Given the description of an element on the screen output the (x, y) to click on. 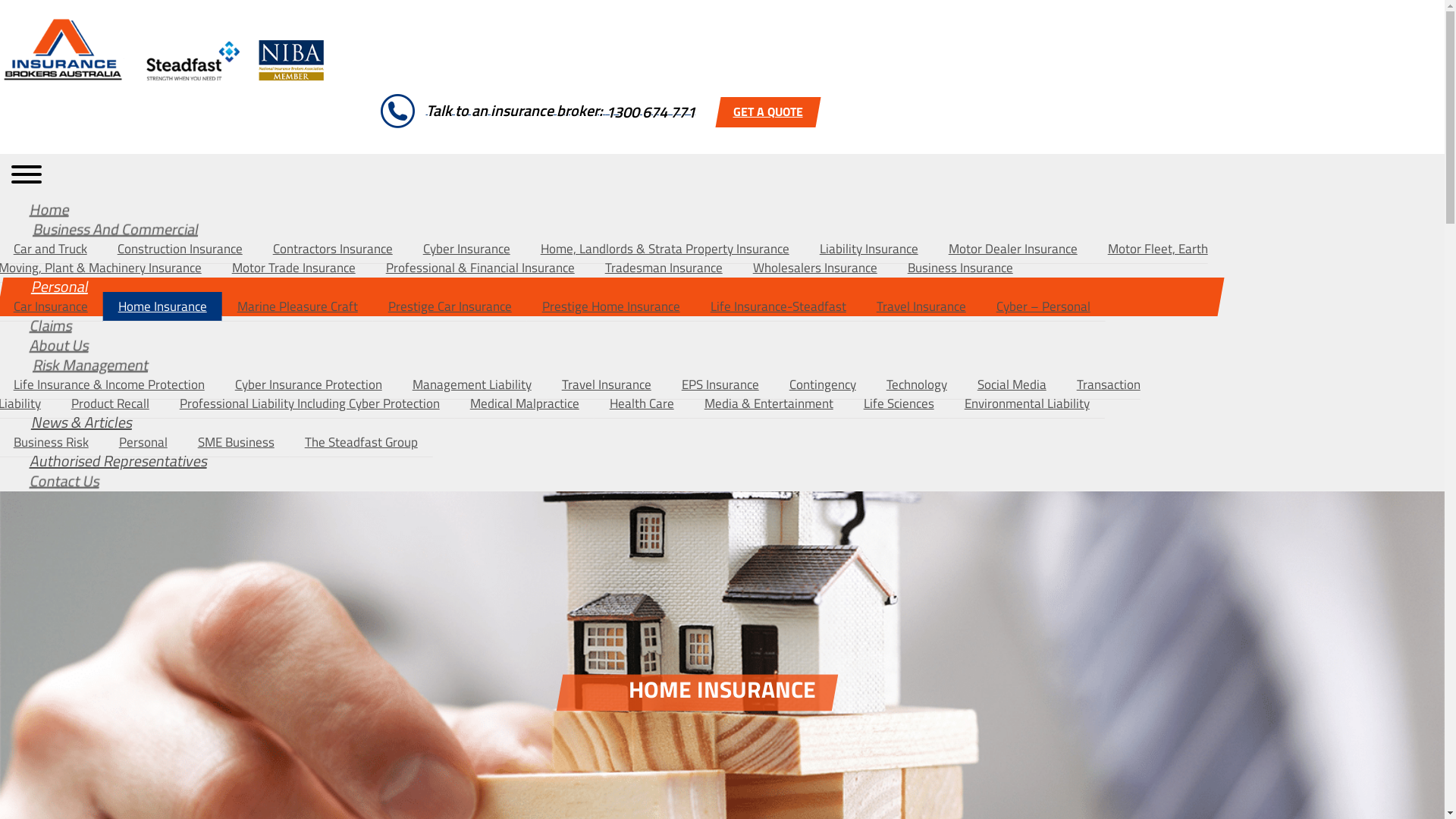
Management Liability Element type: text (471, 384)
Prestige Home Insurance Element type: text (611, 306)
Motor Dealer Insurance Element type: text (1012, 248)
Health Care Element type: text (641, 403)
Liability Insurance Element type: text (868, 248)
Contractors Insurance Element type: text (332, 248)
Environmental Liability Element type: text (1026, 403)
Social Media Element type: text (1011, 384)
EPS Insurance Element type: text (720, 384)
Product Recall Element type: text (110, 403)
Cyber Insurance Element type: text (466, 248)
Contingency Element type: text (822, 384)
Cyber Insurance Protection Element type: text (308, 384)
Business Insurance Element type: text (960, 267)
Construction Insurance Element type: text (179, 248)
1300 674 771 Element type: hover (649, 111)
Submit Element type: text (722, 246)
The Steadfast Group Element type: text (361, 442)
Life Insurance-Steadfast Element type: text (778, 306)
Tradesman Insurance Element type: text (663, 267)
Professional Liability Including Cyber Protection Element type: text (309, 403)
Marine Pleasure Craft Element type: text (297, 306)
Prestige Car Insurance Element type: text (450, 306)
Wholesalers Insurance Element type: text (814, 267)
SME Business Element type: text (235, 442)
Personal Element type: text (142, 442)
Life Sciences Element type: text (898, 403)
Talk to an insurance broker: Element type: text (537, 110)
Home Insurance Element type: text (162, 306)
Media & Entertainment Element type: text (768, 403)
Professional & Financial Insurance Element type: text (479, 267)
Travel Insurance Element type: text (921, 306)
Medical Malpractice Element type: text (524, 403)
Technology Element type: text (916, 384)
Travel Insurance Element type: text (606, 384)
GET A QUOTE Element type: text (767, 111)
Home, Landlords & Strata Property Insurance Element type: text (664, 248)
Motor Trade Insurance Element type: text (293, 267)
